Given the description of an element on the screen output the (x, y) to click on. 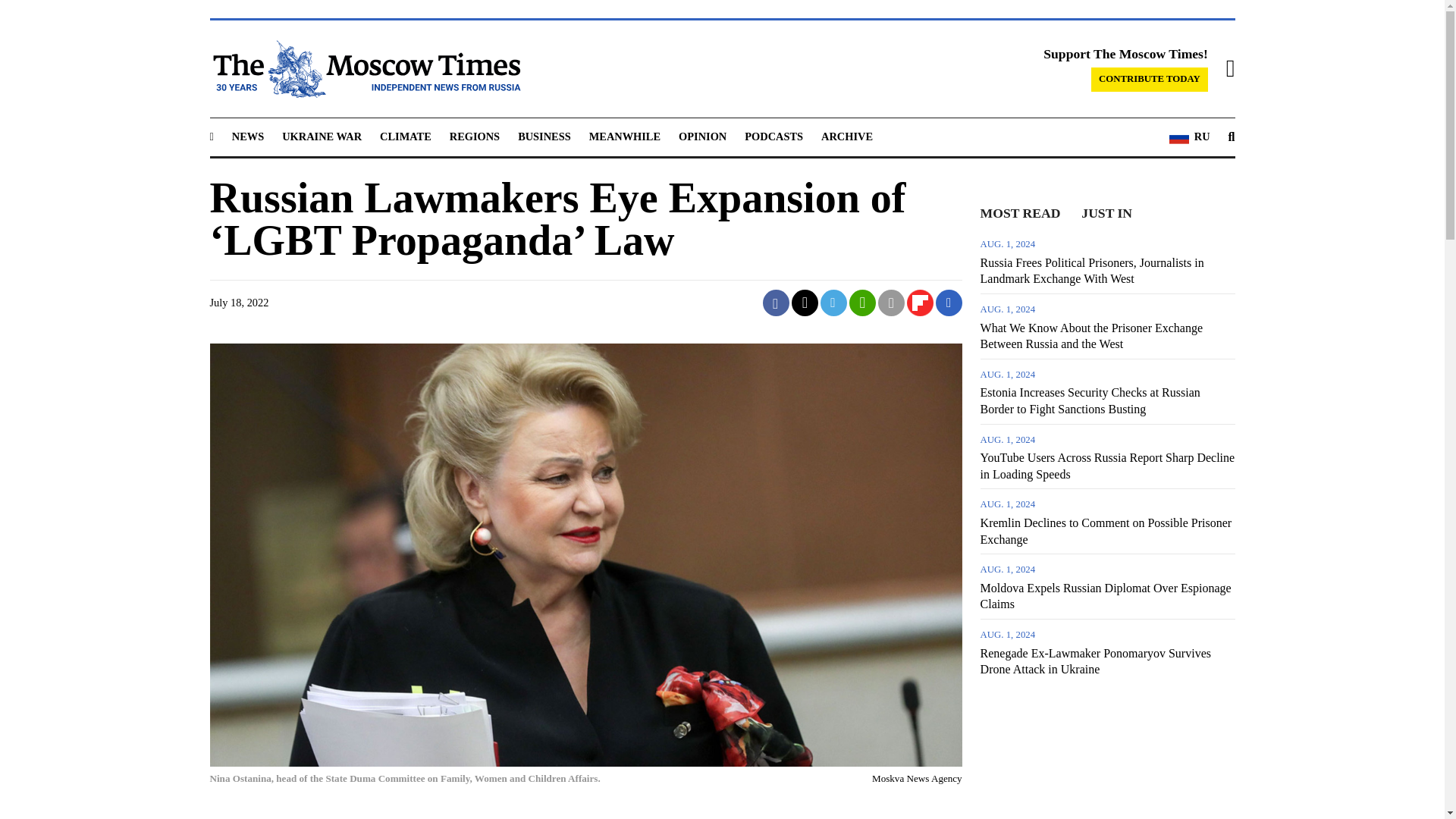
RU (1189, 137)
REGIONS (474, 136)
UKRAINE WAR (321, 136)
MEANWHILE (625, 136)
NEWS (247, 136)
OPINION (702, 136)
The Moscow Times - Independent News from Russia (364, 68)
Share on Twitter (805, 302)
PODCASTS (773, 136)
Share on Telegram (834, 302)
CLIMATE (405, 136)
Share on Flipboard (920, 302)
CONTRIBUTE TODAY (1149, 79)
ARCHIVE (846, 136)
